Given the description of an element on the screen output the (x, y) to click on. 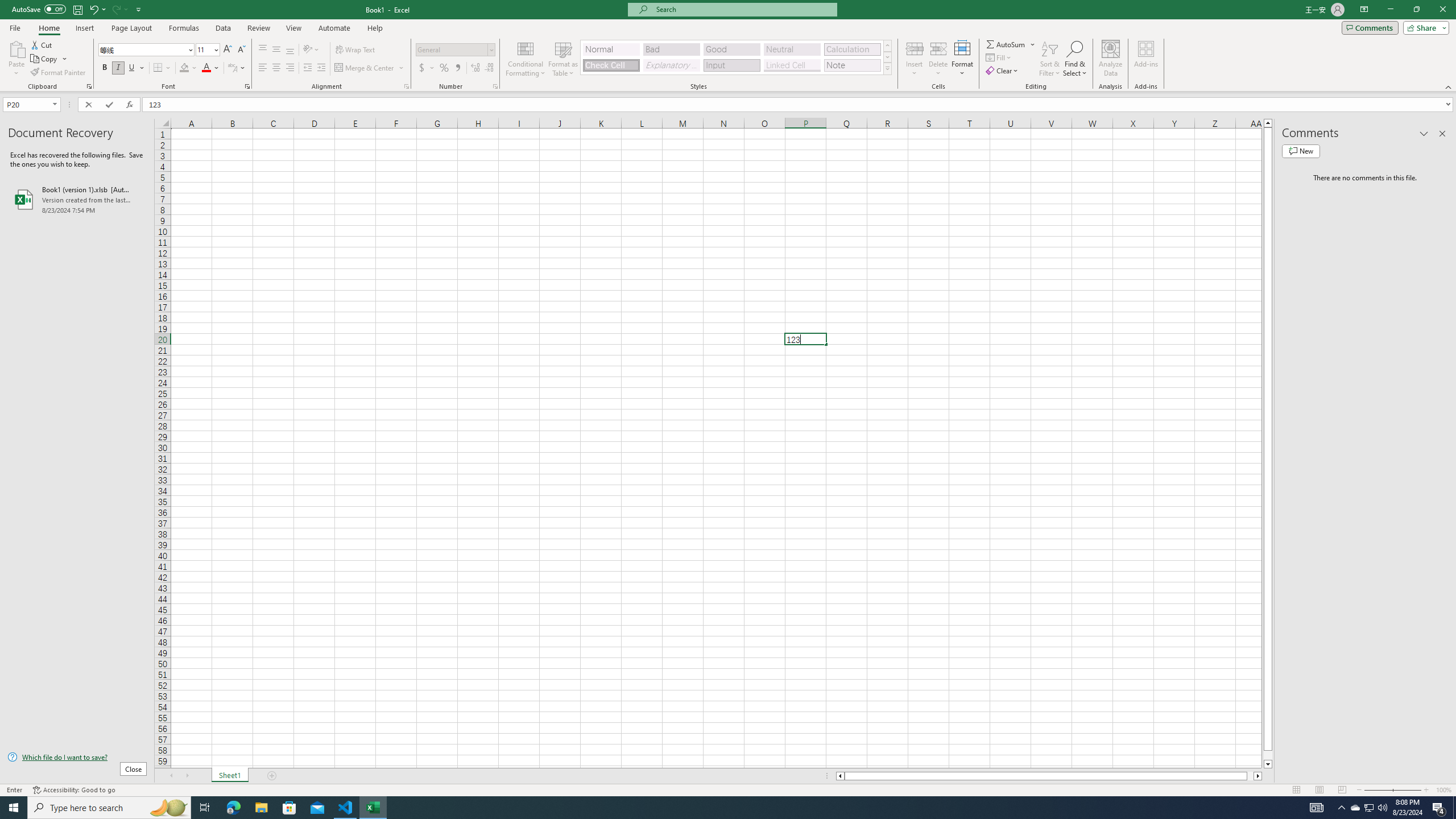
Row up (887, 45)
Conditional Formatting (525, 58)
Restore Down (1416, 9)
Collapse the Ribbon (1448, 86)
Ribbon Display Options (1364, 9)
Note (852, 65)
Bad (671, 49)
Italic (118, 67)
Home (48, 28)
Linked Cell (791, 65)
Class: NetUIScrollBar (1048, 775)
Book1 (version 1).xlsb  [AutoRecovered] (77, 199)
Quick Access Toolbar (77, 9)
Format Cell Font (247, 85)
Customize Quick Access Toolbar (139, 9)
